Given the description of an element on the screen output the (x, y) to click on. 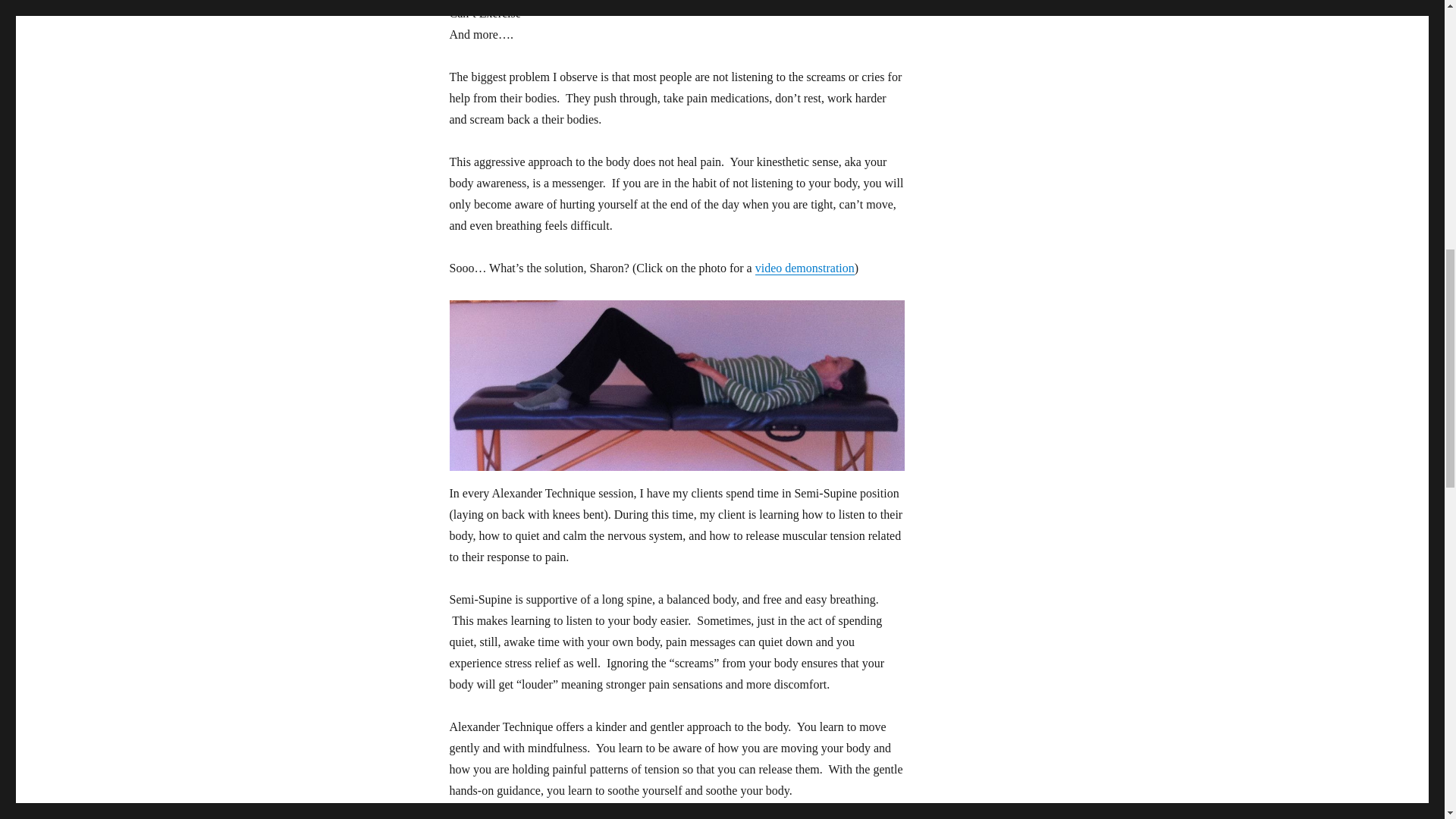
video demonstration (804, 267)
